Given the description of an element on the screen output the (x, y) to click on. 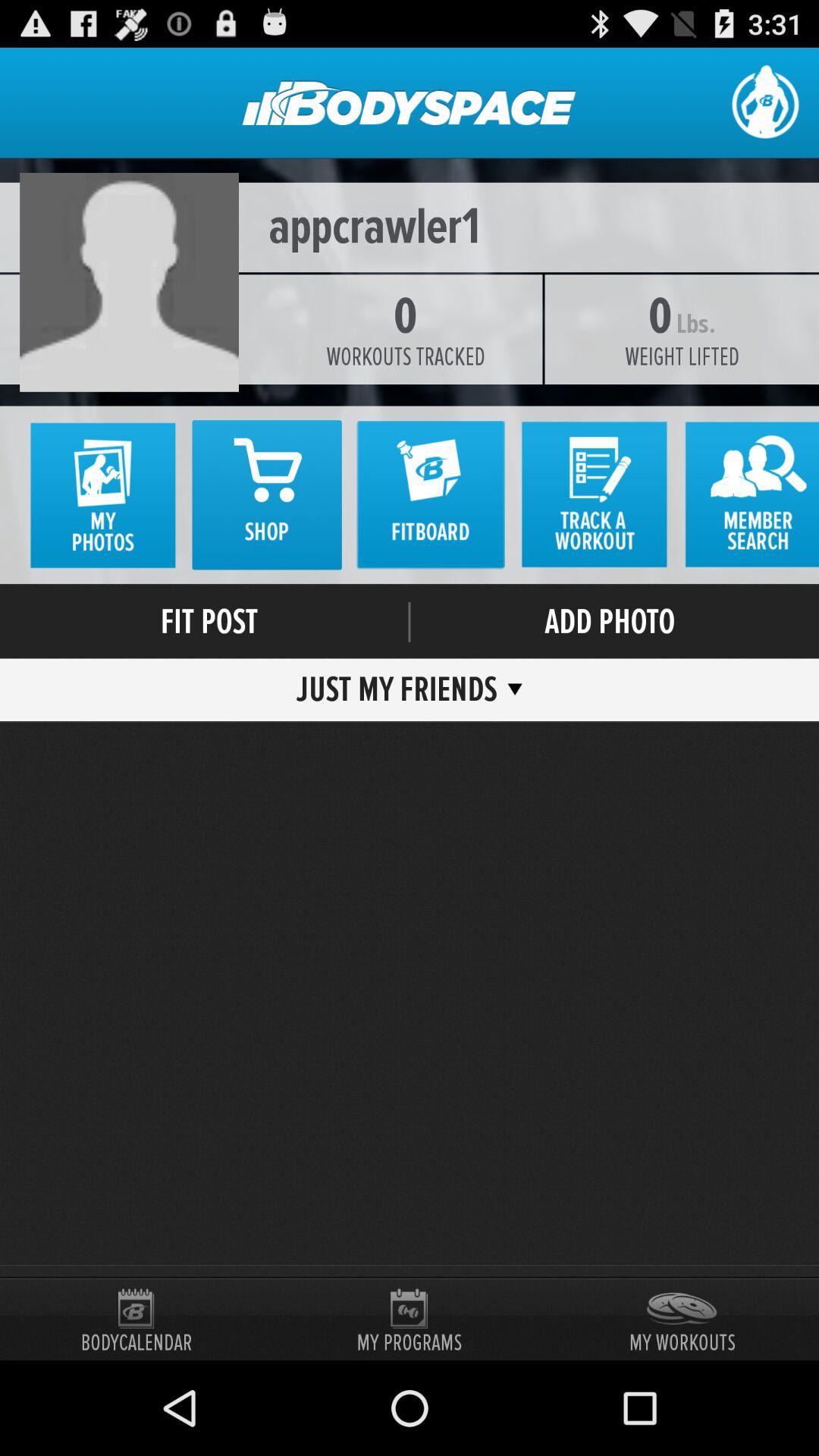
select the item to the right of the 0 item (695, 323)
